Given the description of an element on the screen output the (x, y) to click on. 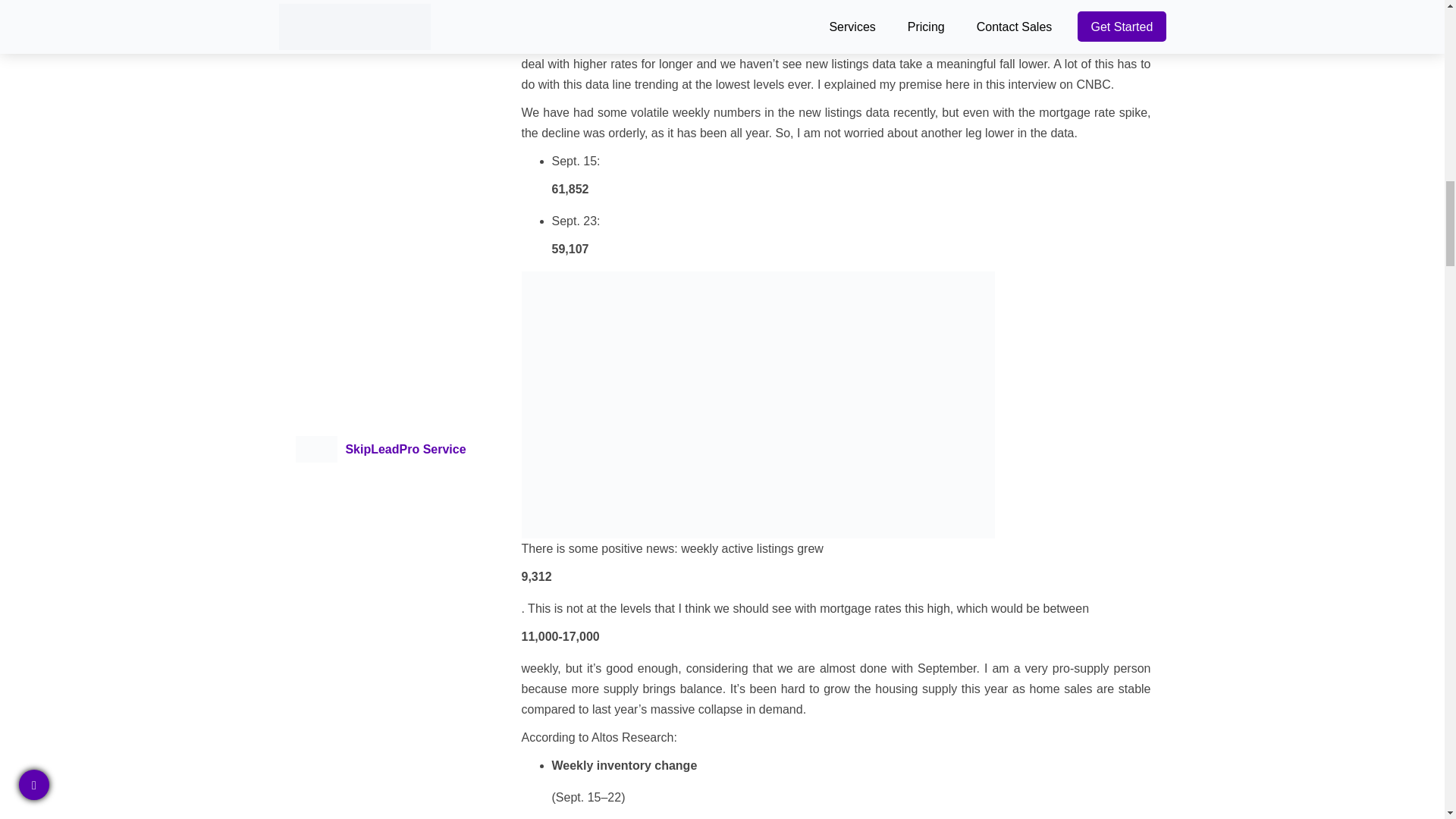
Altos Research (632, 737)
